Given the description of an element on the screen output the (x, y) to click on. 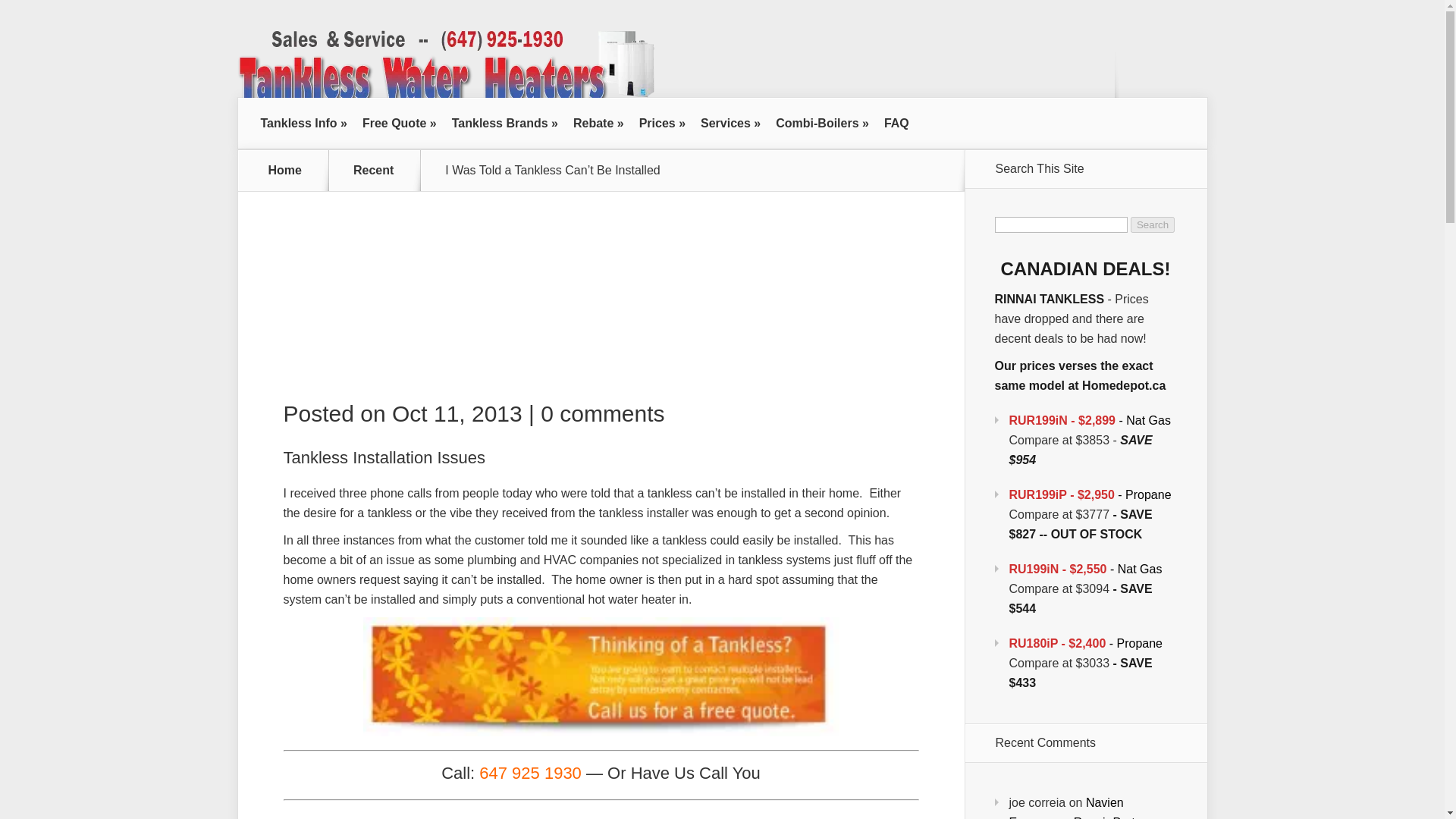
Search (1152, 224)
fall-tankless-installers (600, 676)
